Given the description of an element on the screen output the (x, y) to click on. 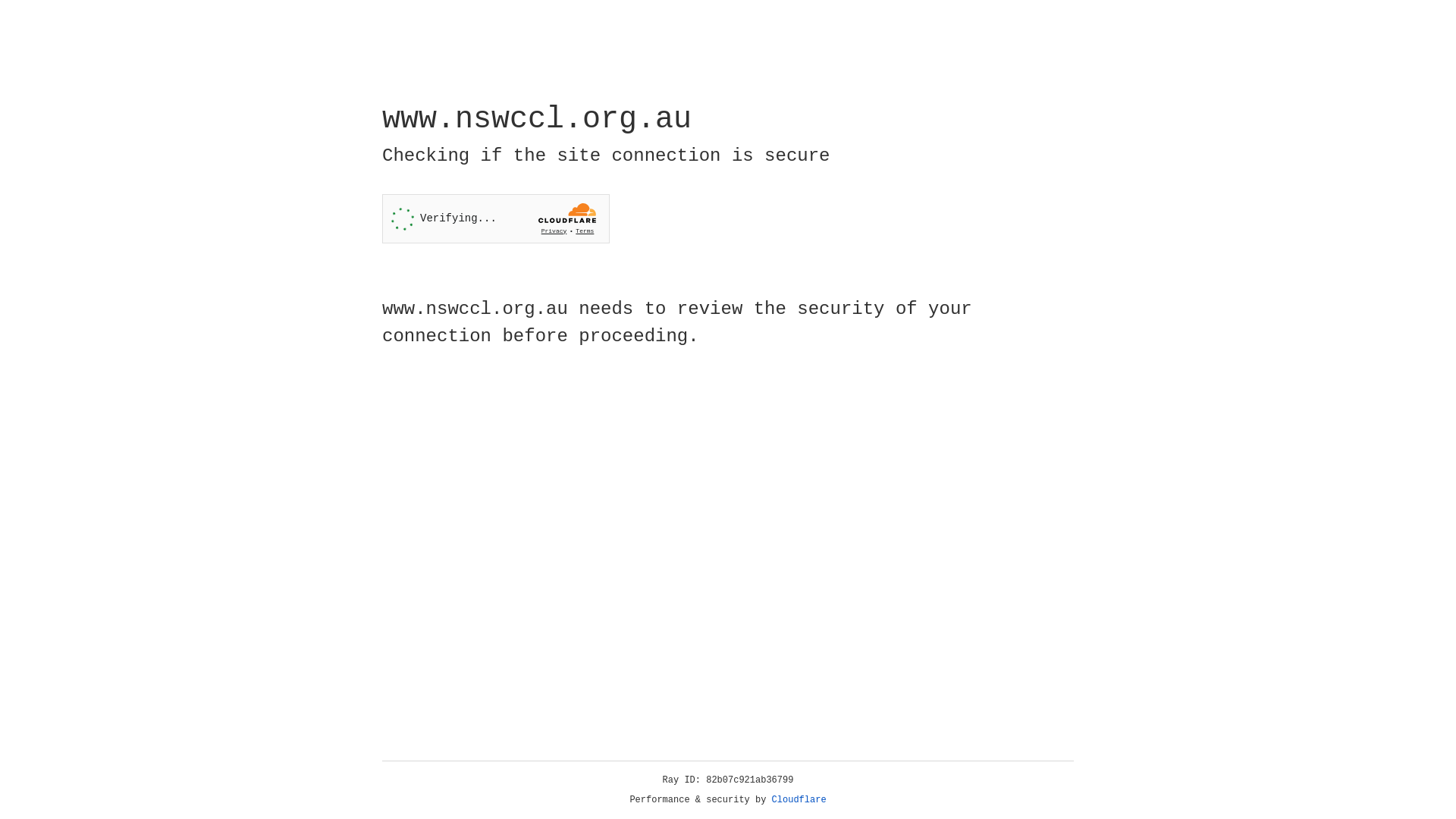
Widget containing a Cloudflare security challenge Element type: hover (495, 218)
Cloudflare Element type: text (798, 799)
